Given the description of an element on the screen output the (x, y) to click on. 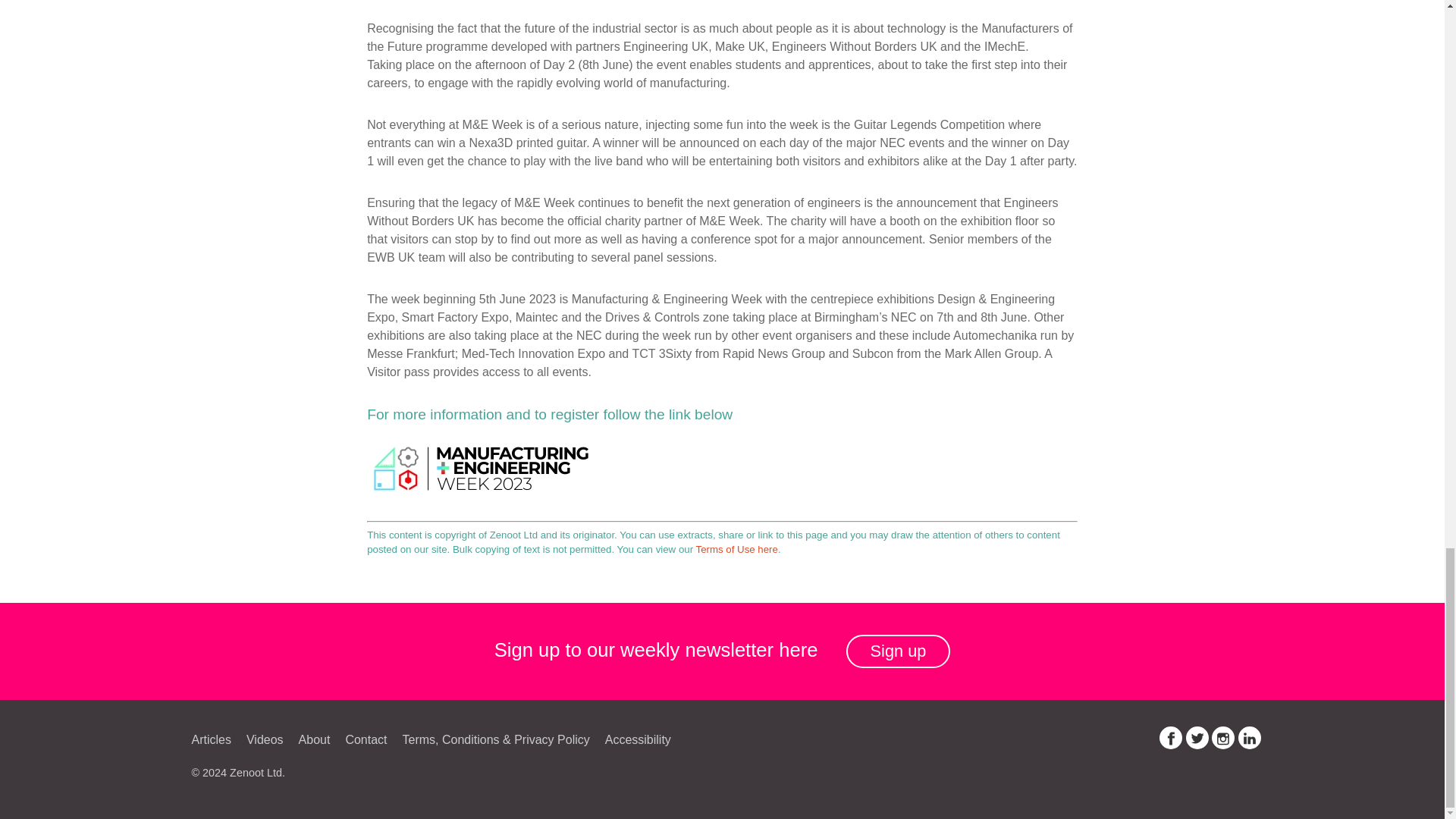
About (314, 739)
Accessibility (637, 739)
Sign up (897, 651)
Terms of Use here (736, 549)
Articles (210, 739)
Contact (365, 739)
Videos (264, 739)
